Given the description of an element on the screen output the (x, y) to click on. 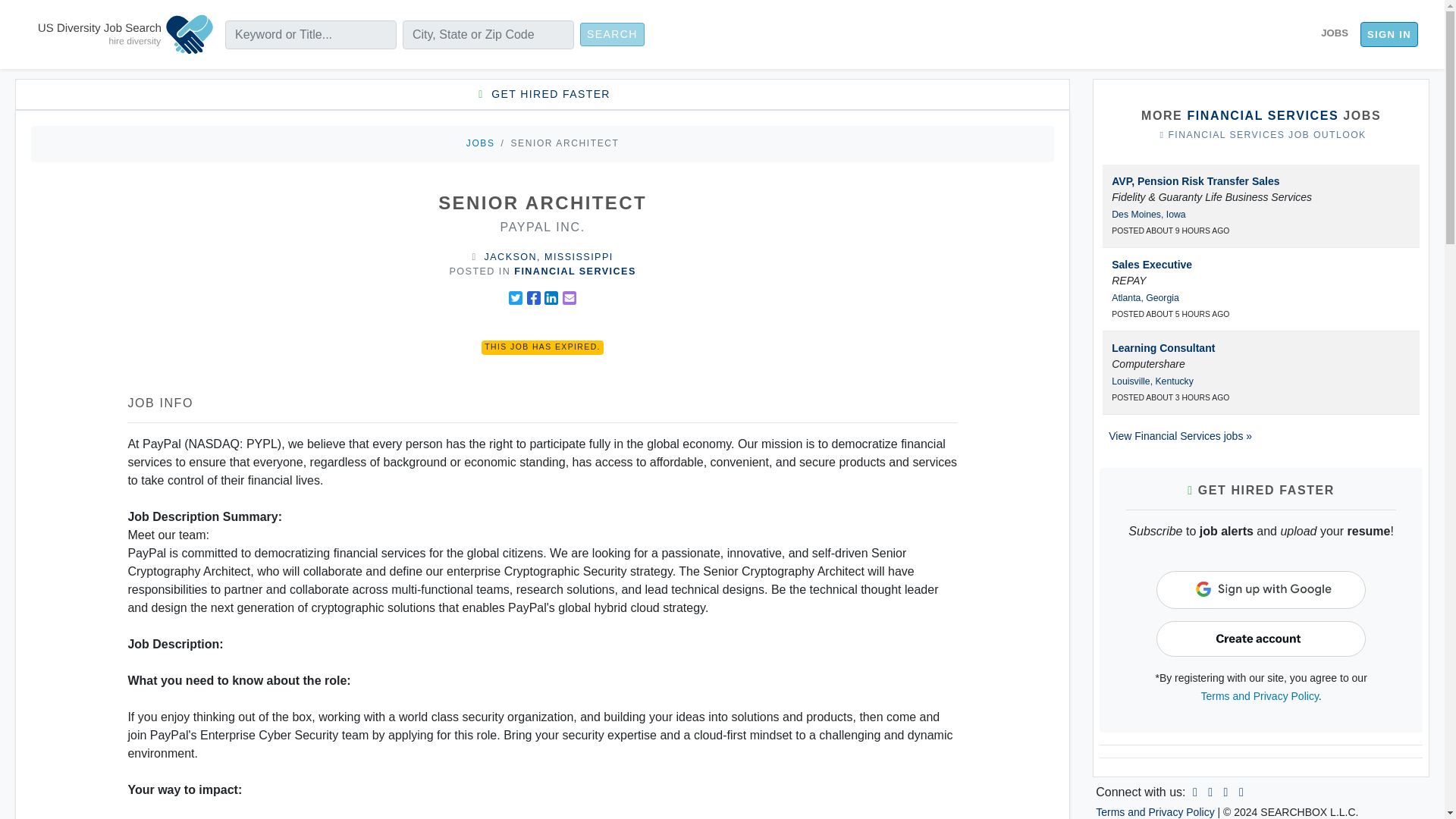
FINANCIAL SERVICES JOB OUTLOOK (1261, 134)
GET HIRED FASTER (541, 94)
Learning Consultant (1163, 347)
Link to Twitter (1225, 791)
Terms and Privacy Policy (1155, 811)
Share to Twitter (515, 297)
Sales Executive (1152, 264)
JOBS (1334, 33)
FINANCIAL SERVICES (1262, 115)
Louisville, Kentucky (1152, 380)
JOBS (480, 143)
Share to Facebook (533, 297)
SEARCH (612, 33)
FINANCIAL SERVICES (574, 271)
JACKSON, MISSISSIPPI (548, 256)
